Given the description of an element on the screen output the (x, y) to click on. 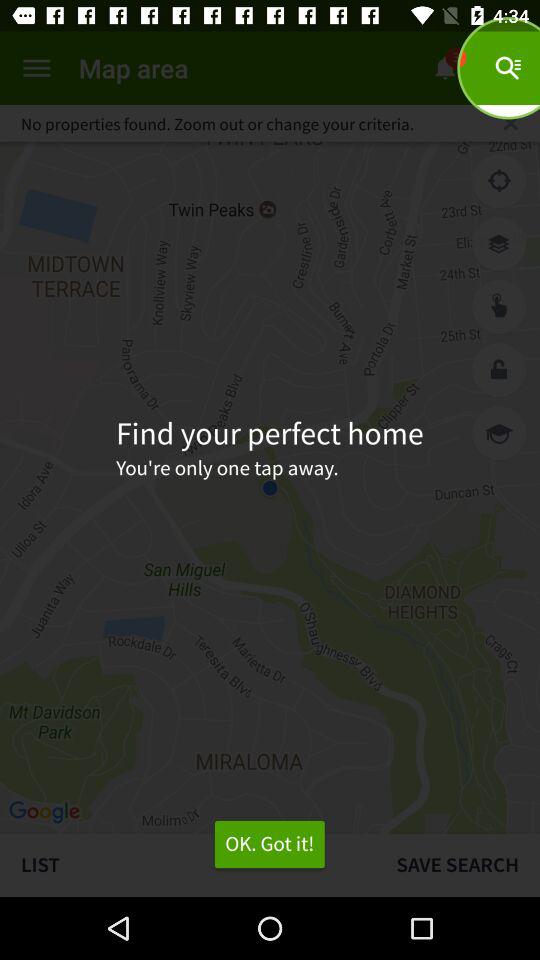
open menu (36, 68)
